Given the description of an element on the screen output the (x, y) to click on. 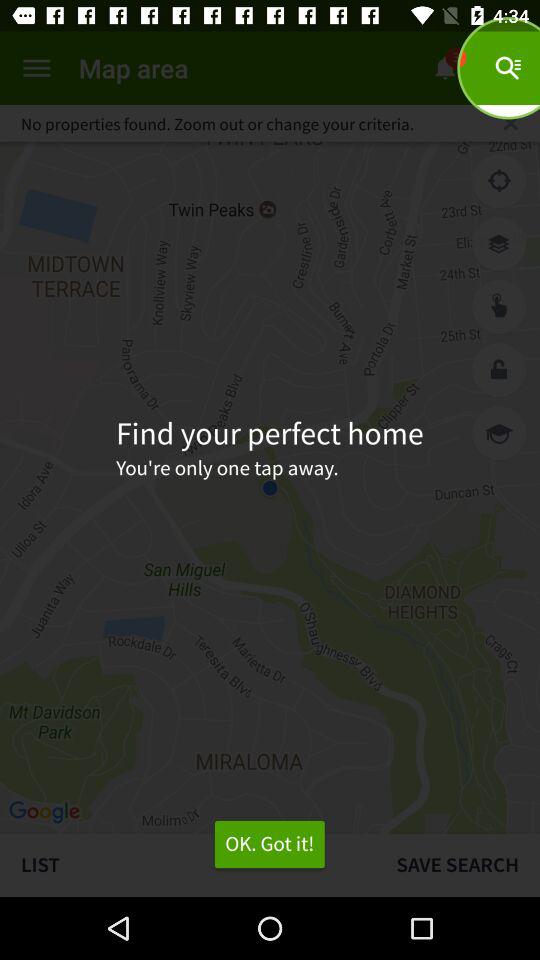
open menu (36, 68)
